Given the description of an element on the screen output the (x, y) to click on. 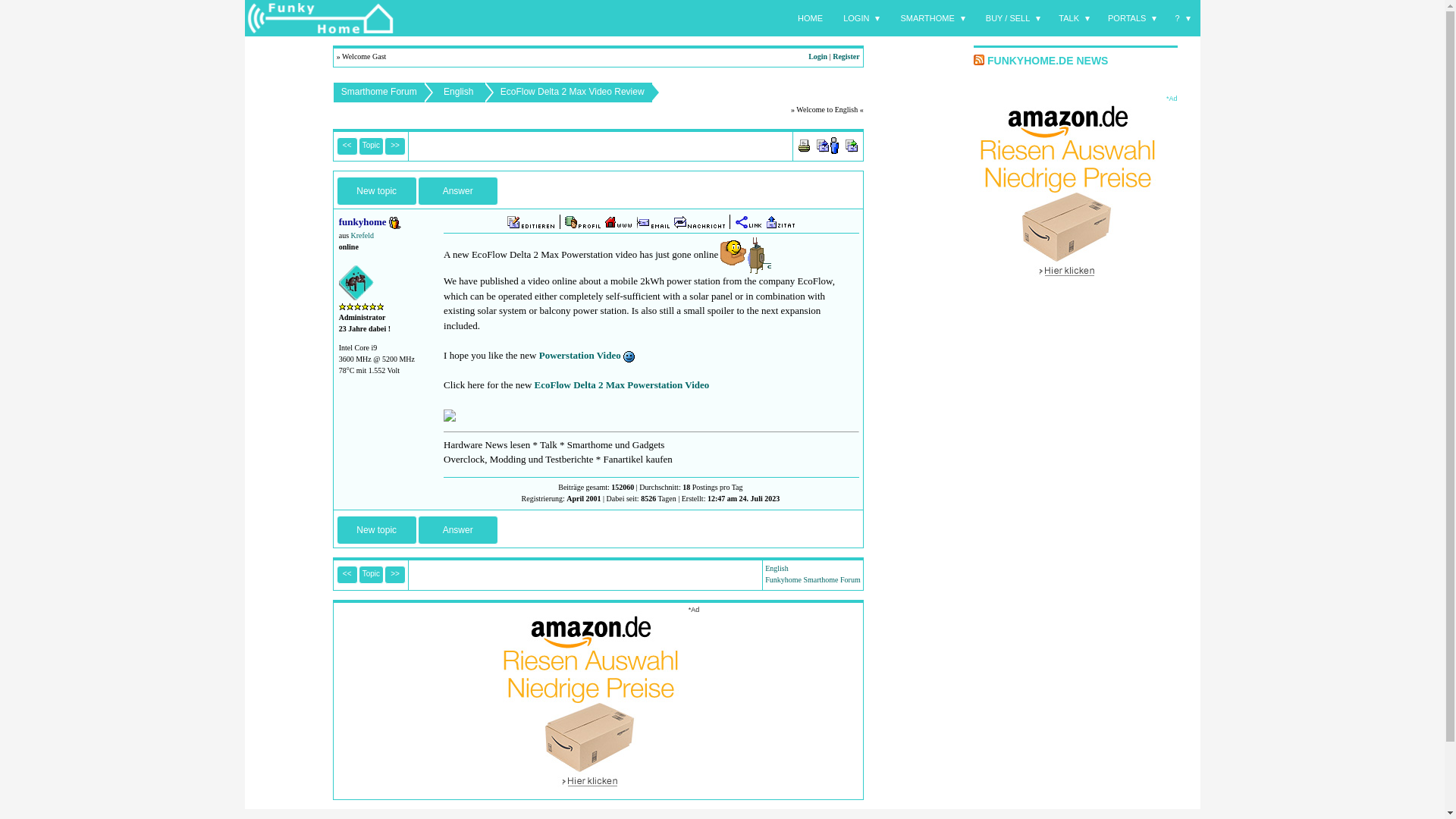
Bitte erst einloggen (618, 221)
EcoFlow Delta 2 Max Video Review (572, 91)
TALK (1074, 18)
English (458, 91)
PORTALS (1132, 18)
Register (846, 56)
Druckbarer Beitrag (803, 144)
:tv: (745, 255)
Login (817, 56)
Bitte erst einloggen (851, 145)
